Given the description of an element on the screen output the (x, y) to click on. 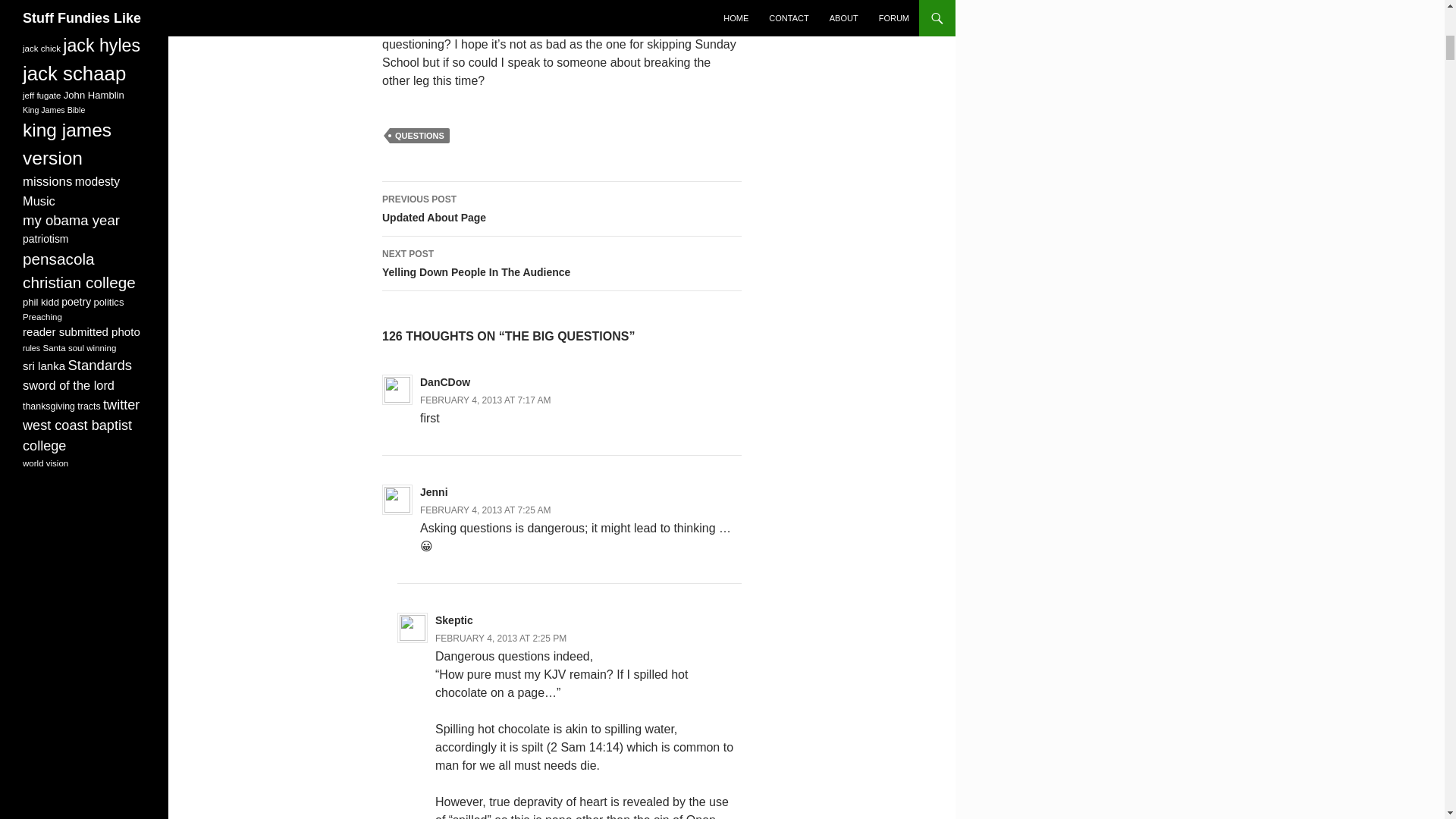
FEBRUARY 4, 2013 AT 7:17 AM (485, 399)
FEBRUARY 4, 2013 AT 7:25 AM (485, 510)
QUESTIONS (561, 263)
FEBRUARY 4, 2013 AT 2:25 PM (419, 135)
Jenni (500, 638)
